Given the description of an element on the screen output the (x, y) to click on. 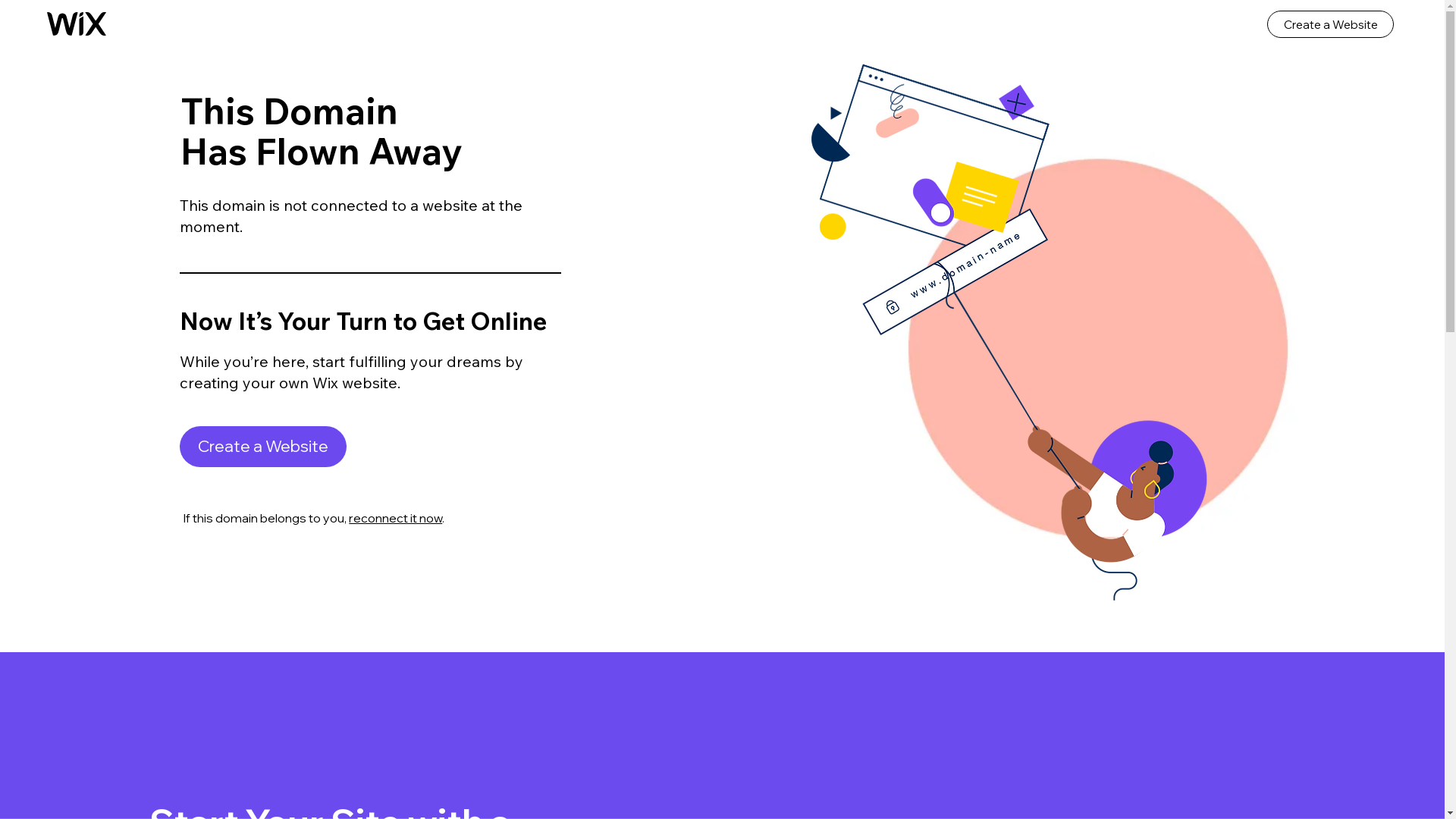
Create a Website Element type: text (262, 446)
reconnect it now Element type: text (395, 517)
Create a Website Element type: text (1330, 23)
